Given the description of an element on the screen output the (x, y) to click on. 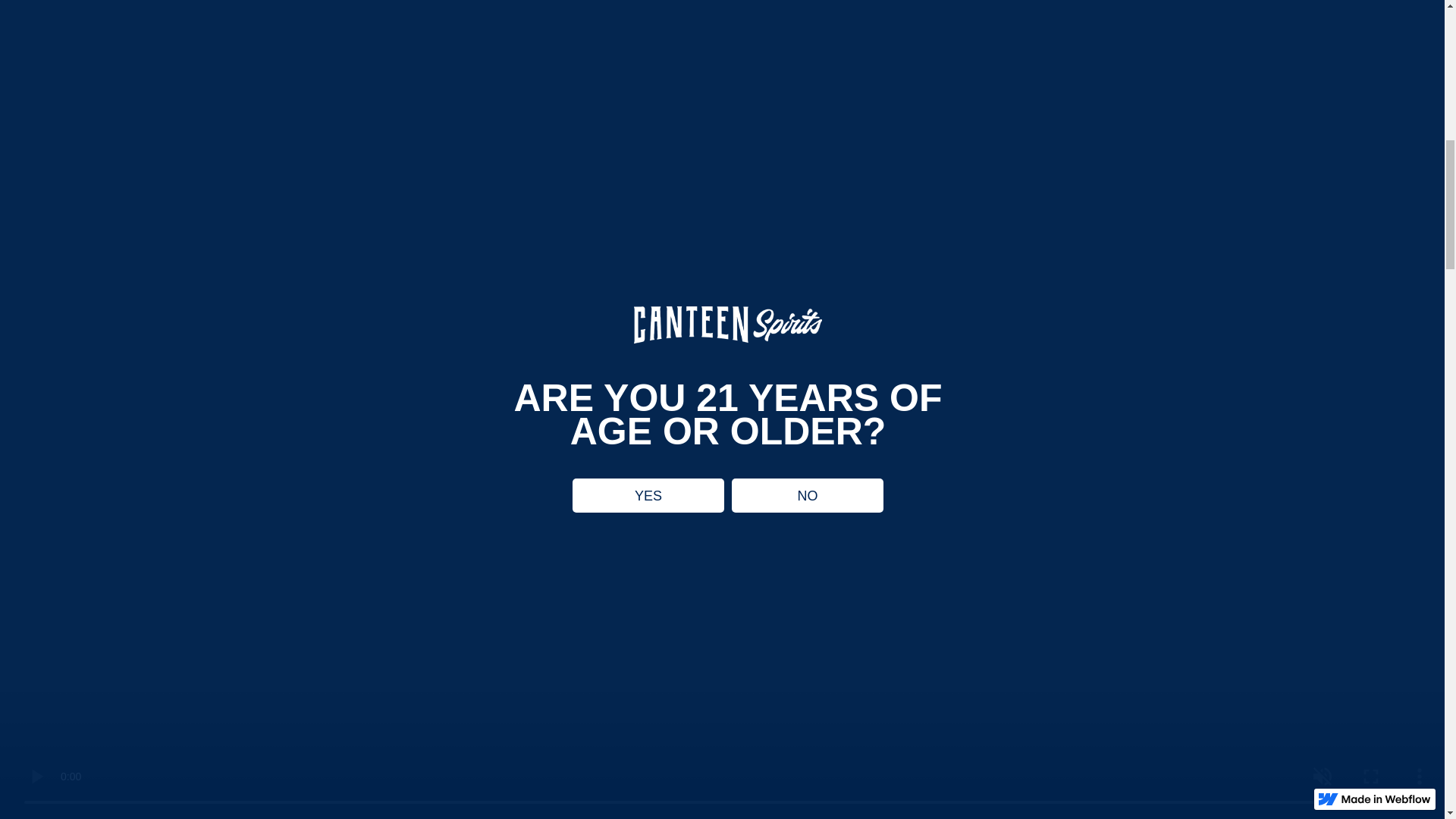
GIVEAWAY POST (760, 192)
SUBMIT (721, 556)
SUBMIT (721, 556)
